Given the description of an element on the screen output the (x, y) to click on. 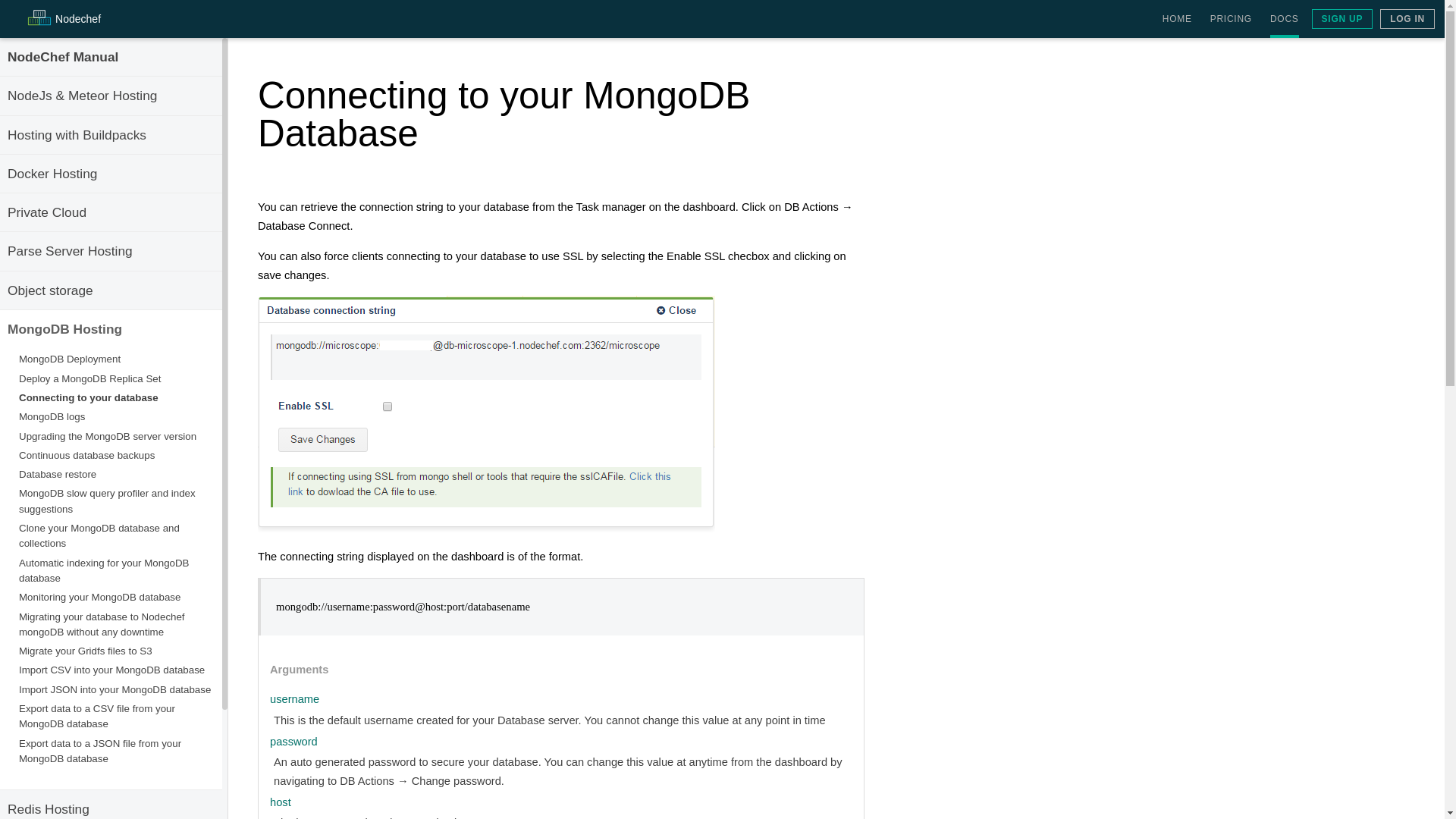
PRICING (1230, 18)
Migrate your Gridfs files to S3 (85, 650)
Import JSON into your MongoDB database (114, 689)
Continuous database backups (86, 455)
Clone your MongoDB database and collections (98, 535)
MongoDB slow query profiler and index suggestions (106, 500)
MongoDB logs (51, 416)
Nodechef (62, 20)
Private Cloud (46, 212)
Export data to a JSON file from your MongoDB database (99, 750)
